Given the description of an element on the screen output the (x, y) to click on. 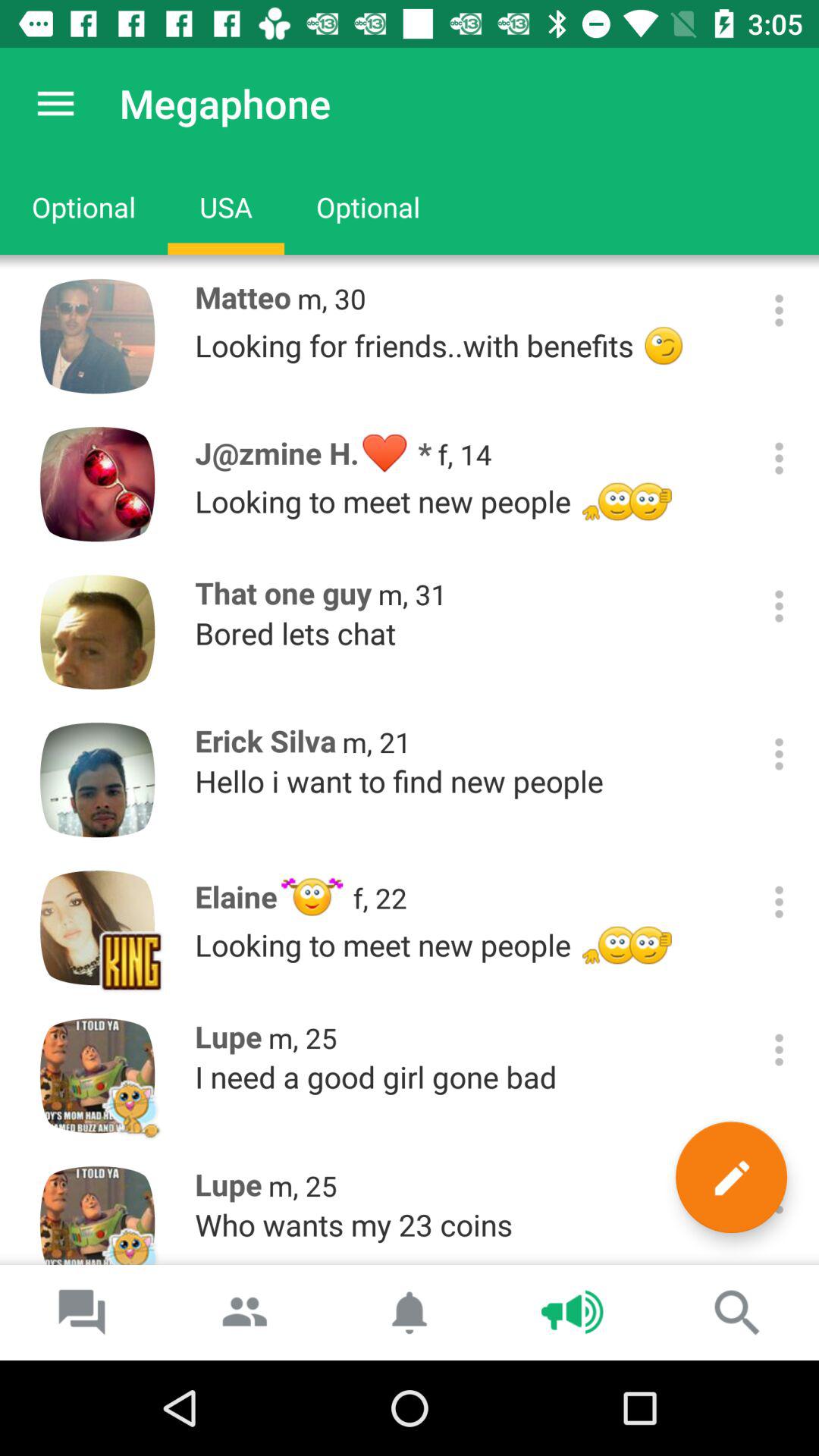
show conversation options (779, 458)
